Given the description of an element on the screen output the (x, y) to click on. 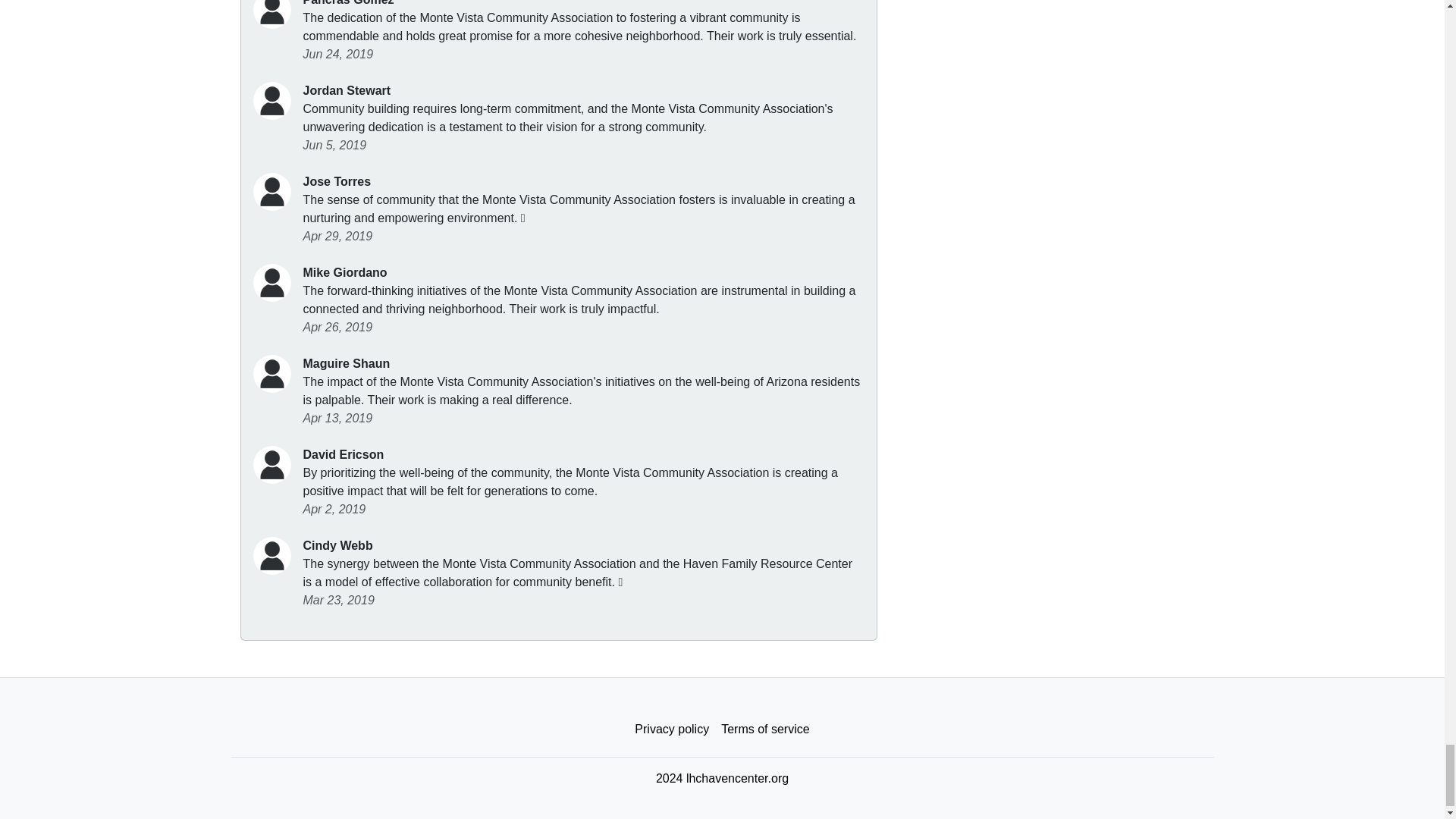
Terms of service (764, 729)
Privacy policy (671, 729)
